Given the description of an element on the screen output the (x, y) to click on. 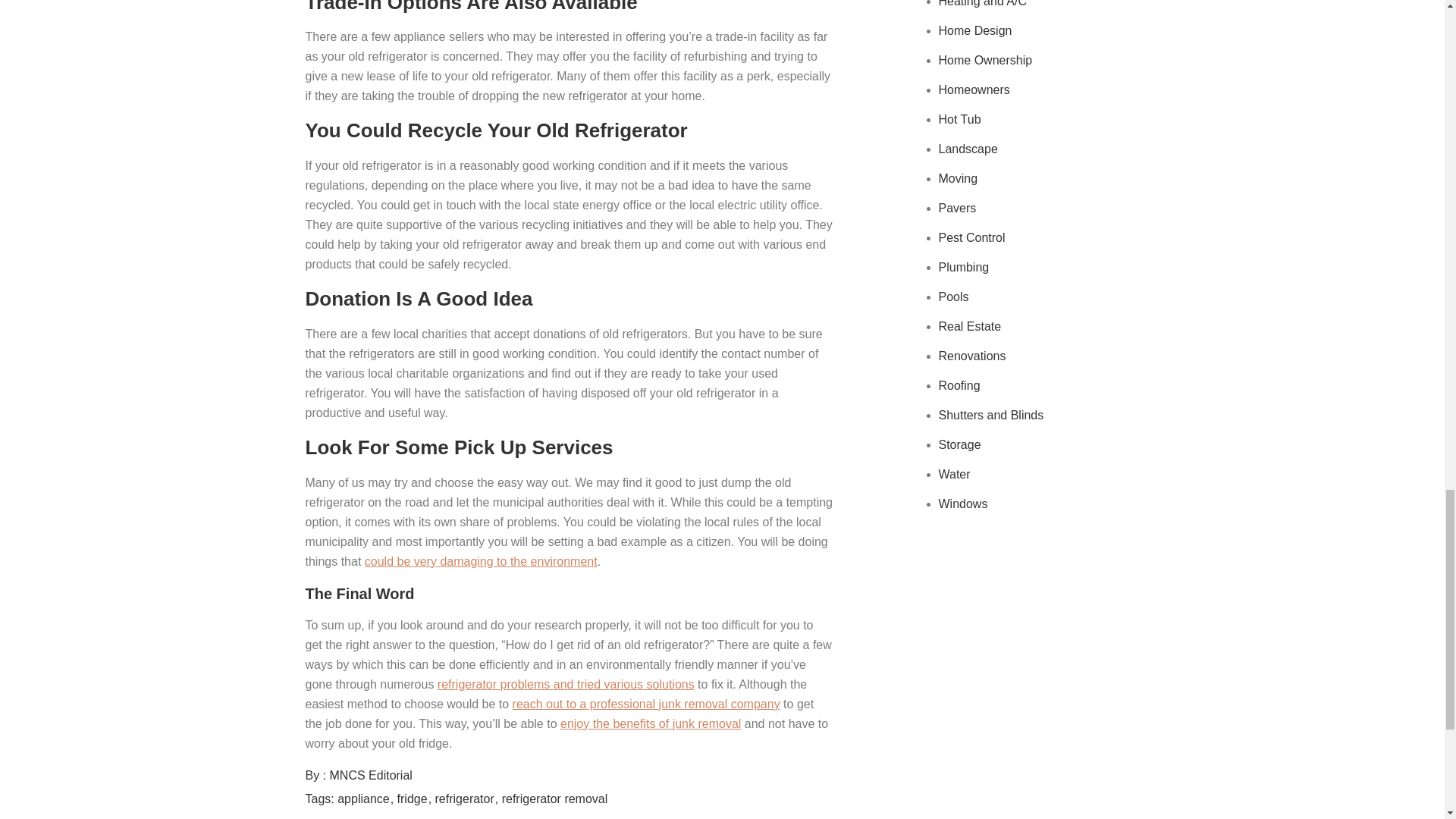
enjoy the benefits of junk removal (650, 723)
appliance (365, 798)
refrigerator removal (555, 798)
reach out to a professional junk removal company (646, 703)
refrigerator (467, 798)
could be very damaging to the environment (480, 561)
refrigerator problems and tried various solutions (566, 684)
fridge (413, 798)
MNCS Editorial (371, 775)
